Given the description of an element on the screen output the (x, y) to click on. 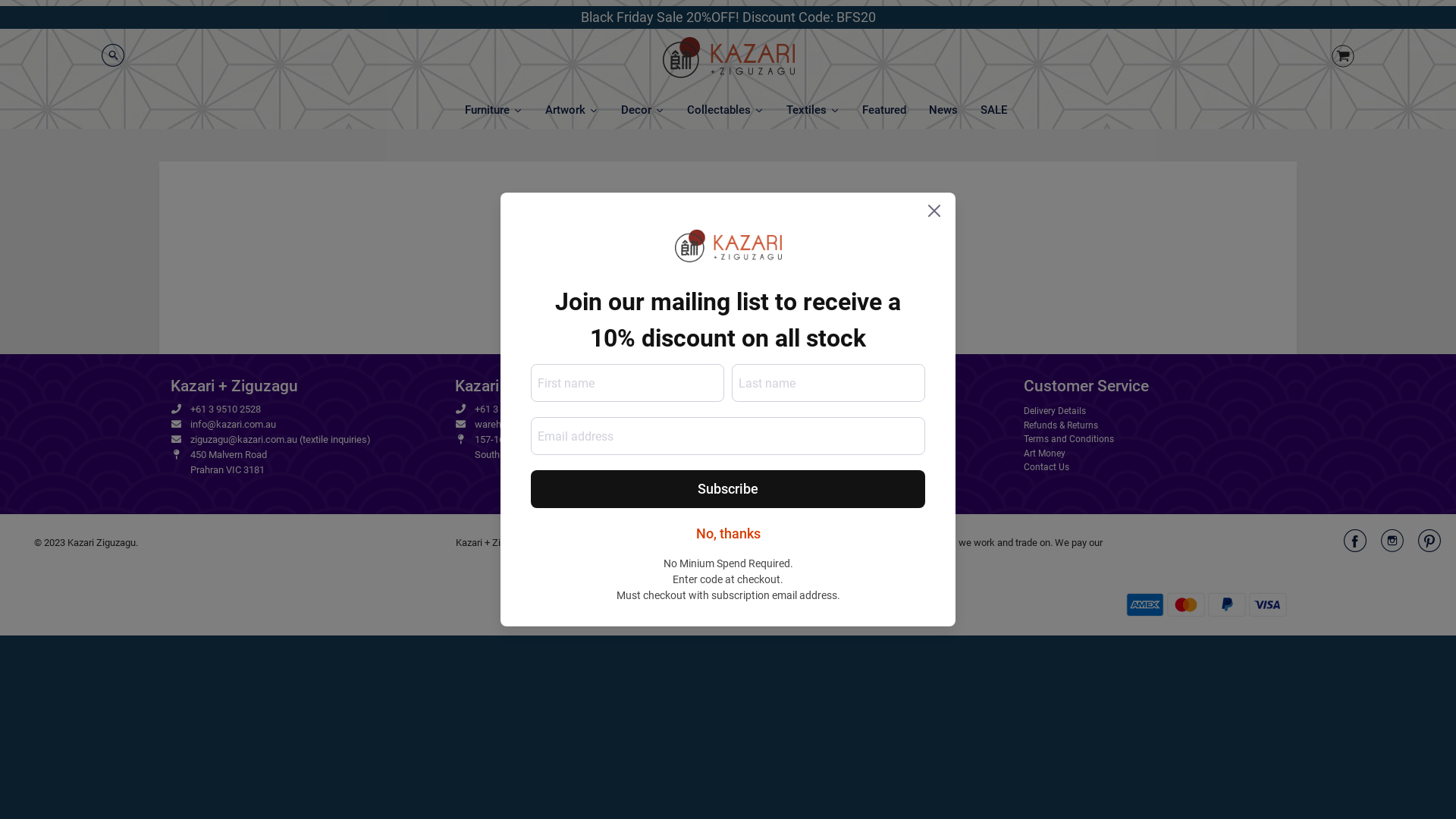
Hire Element type: text (875, 452)
SALE Element type: text (993, 109)
Art Money Element type: text (1159, 452)
Artwork Element type: text (571, 109)
Delivery Details Element type: text (1159, 410)
News Element type: text (943, 109)
Warehouse Element type: text (875, 466)
Decor Element type: text (642, 109)
Kazari History Element type: text (875, 424)
Furniture Element type: text (493, 109)
Kazari Ziguzagu on Pinterest Element type: hover (1429, 545)
Collectables Element type: text (724, 109)
Terms and Conditions Element type: text (1159, 438)
Cart image/svg+xml Element type: text (1342, 56)
info@kazari.com.au Element type: text (233, 423)
About Us Element type: text (875, 410)
The Meaning of Kazari Element type: text (875, 438)
Featured Element type: text (883, 109)
Kazari Ziguzagu on Instagram Element type: hover (1391, 545)
here Element type: text (802, 280)
Kazari Ziguzagu on Facebook Element type: hover (1354, 545)
Refunds & Returns Element type: text (1159, 424)
Contact Us Element type: text (1159, 466)
warehouse@kazari.com.au Element type: text (532, 423)
ziguzagu@kazari.com.au (textile inquiries) Element type: text (280, 439)
Textiles Element type: text (812, 109)
Kintsugi Repairs Element type: text (875, 480)
